Given the description of an element on the screen output the (x, y) to click on. 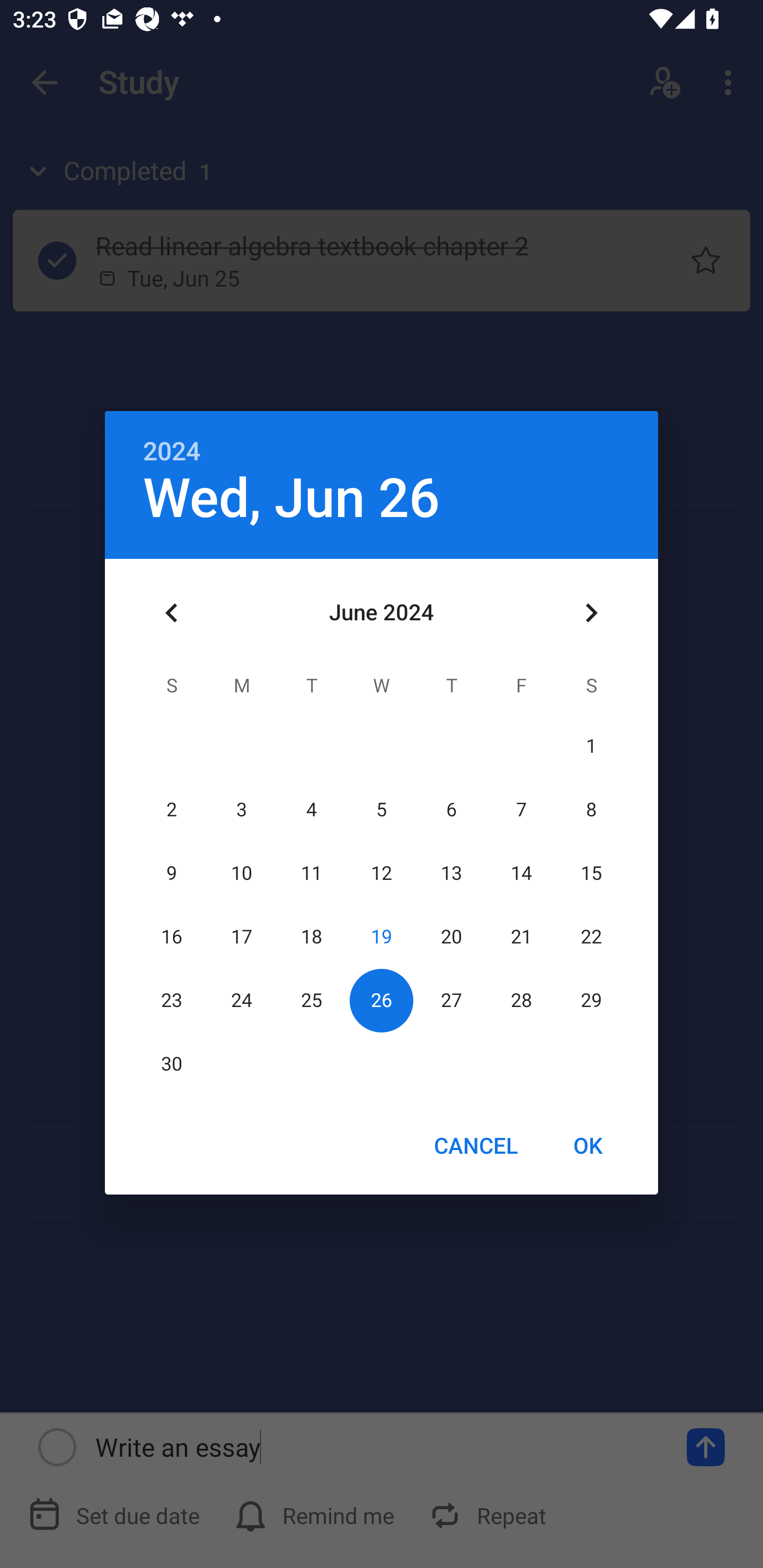
OK (588, 1145)
